Given the description of an element on the screen output the (x, y) to click on. 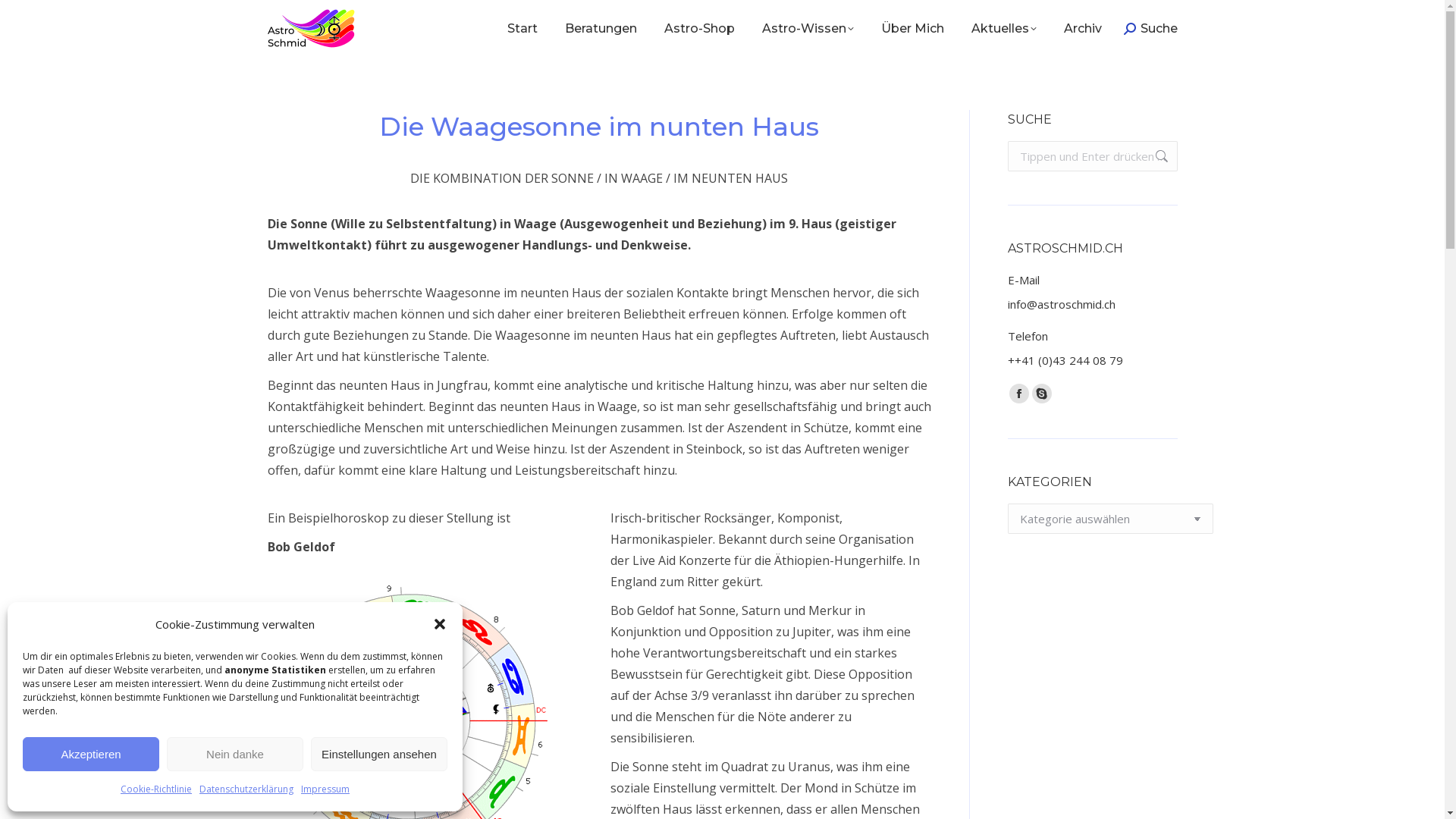
Aktuelles Element type: text (1003, 28)
Astro-Wissen Element type: text (807, 28)
Cookie-Richtlinie Element type: text (155, 789)
Beratungen Element type: text (600, 28)
Akzeptieren Element type: text (90, 754)
Einstellungen ansehen Element type: text (378, 754)
Los! Element type: text (26, 16)
Nein danke Element type: text (234, 754)
Astro-Shop Element type: text (699, 28)
Start Element type: text (522, 28)
Kommentar abschicken Element type: text (81, 16)
Los! Element type: text (1154, 156)
Impressum Element type: text (325, 789)
Archiv Element type: text (1082, 28)
Skype page opens in new window Element type: text (1041, 393)
Suche Element type: text (1150, 28)
Facebook page opens in new window Element type: text (1018, 393)
